Given the description of an element on the screen output the (x, y) to click on. 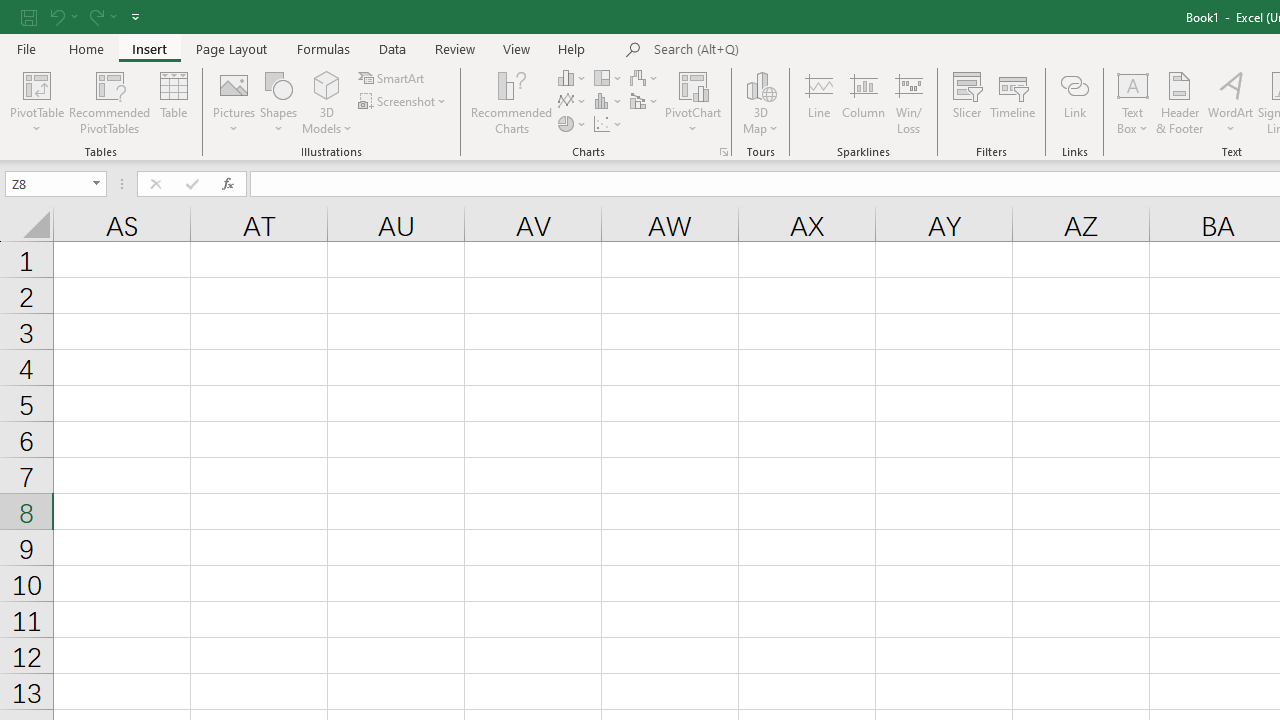
Slicer... (966, 102)
Draw Horizontal Text Box (1133, 84)
Insert Statistic Chart (609, 101)
PivotChart (693, 84)
3D Map (760, 102)
Microsoft search (792, 49)
Text Box (1133, 102)
